Given the description of an element on the screen output the (x, y) to click on. 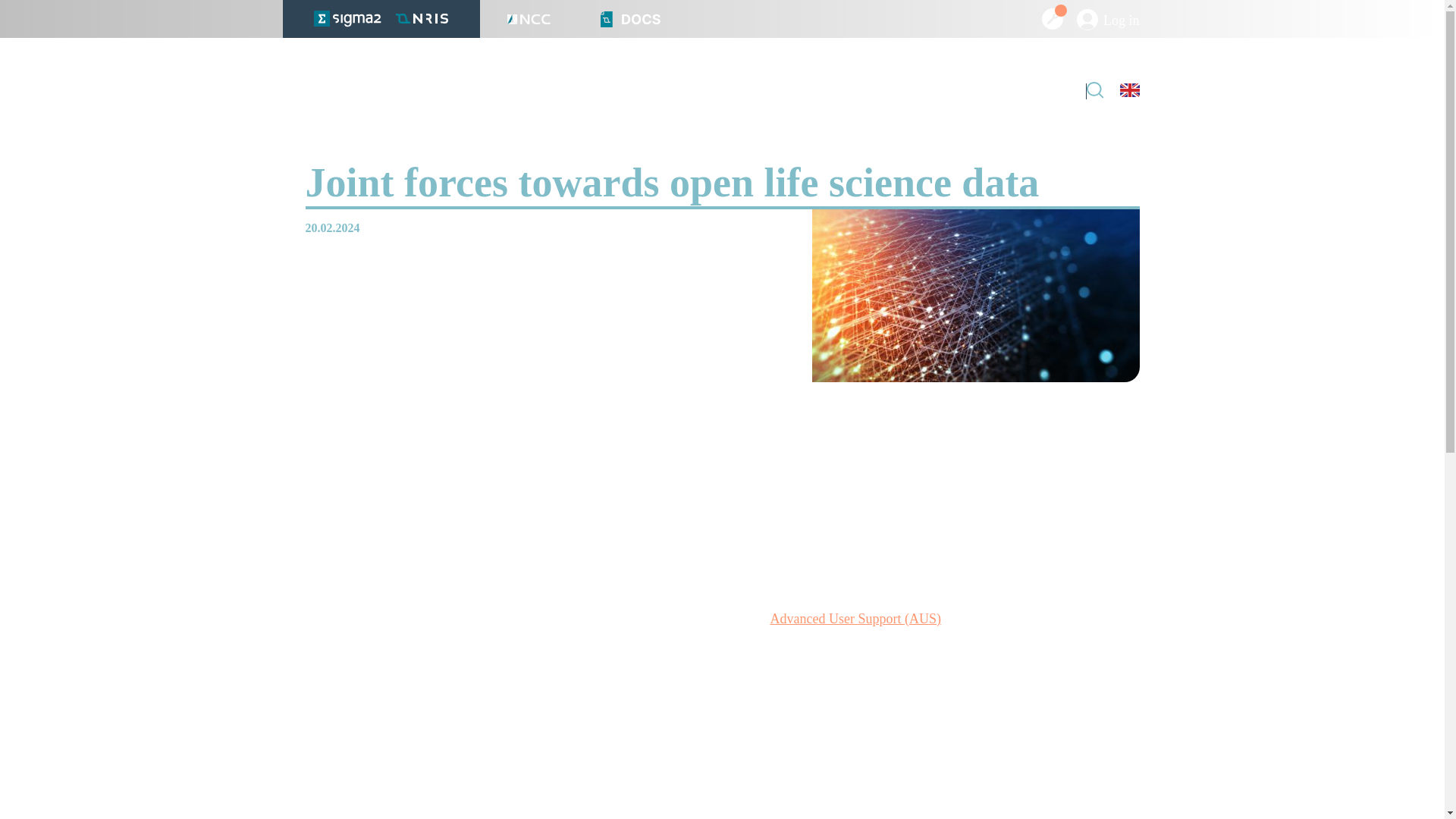
English (1128, 91)
AKTIVITETER (618, 90)
NCC (528, 18)
ORGANISASJON (889, 90)
Log in (1108, 20)
Documentation (630, 18)
Check statuses (1052, 18)
MASKINVARE (486, 90)
VI TILBYR (340, 90)
INTERNASJONALT (765, 90)
